Given the description of an element on the screen output the (x, y) to click on. 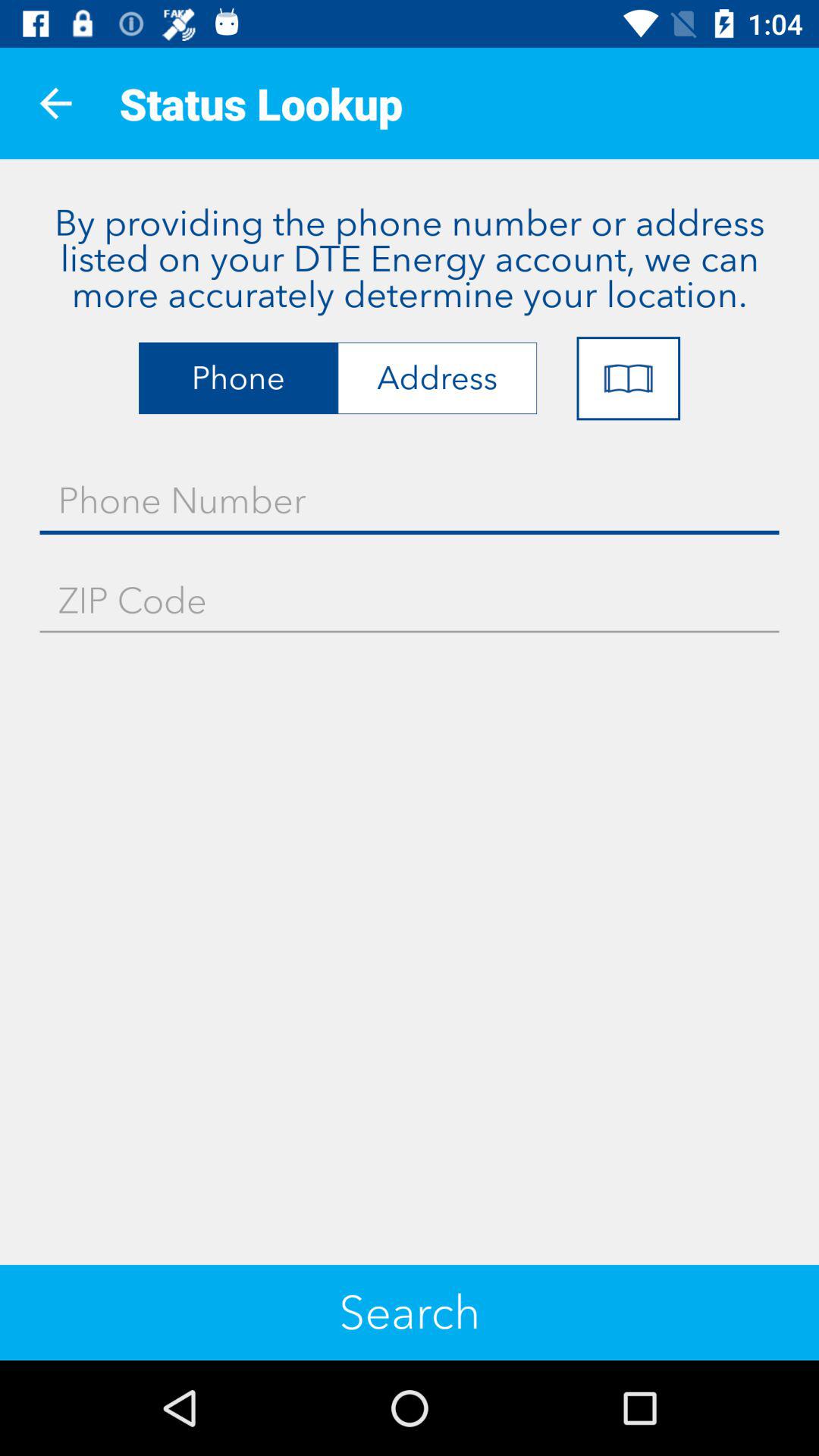
turn off icon to the right of address (628, 378)
